Given the description of an element on the screen output the (x, y) to click on. 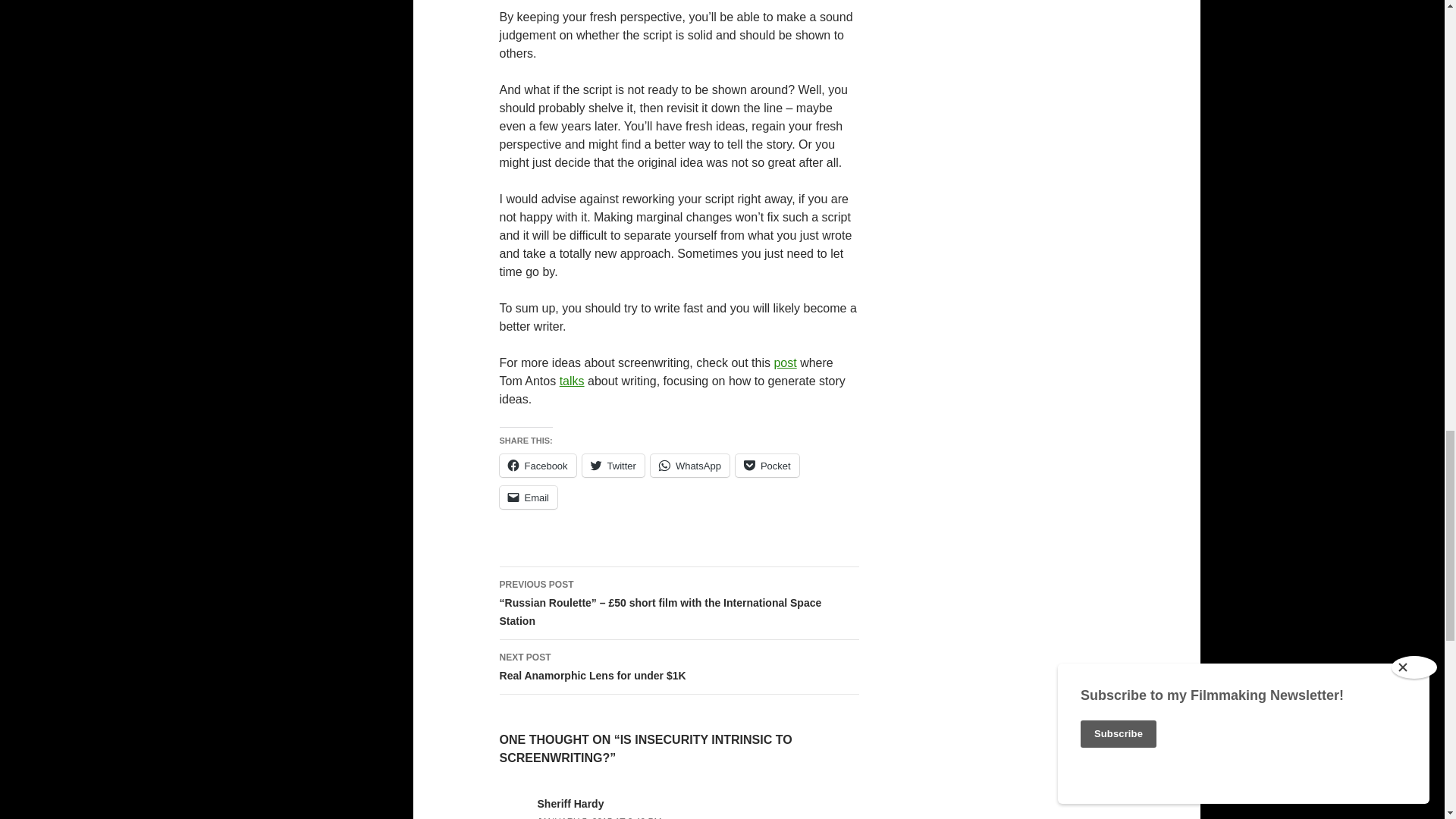
Tom Antos on how to generate story ideas - filmmaking (784, 362)
Click to share on Facebook (537, 465)
Click to email a link to a friend (528, 497)
Click to share on WhatsApp (689, 465)
Tom Antos on how to generate story ideas - filmmaking (572, 380)
Click to share on Twitter (613, 465)
Click to share on Pocket (767, 465)
